Given the description of an element on the screen output the (x, y) to click on. 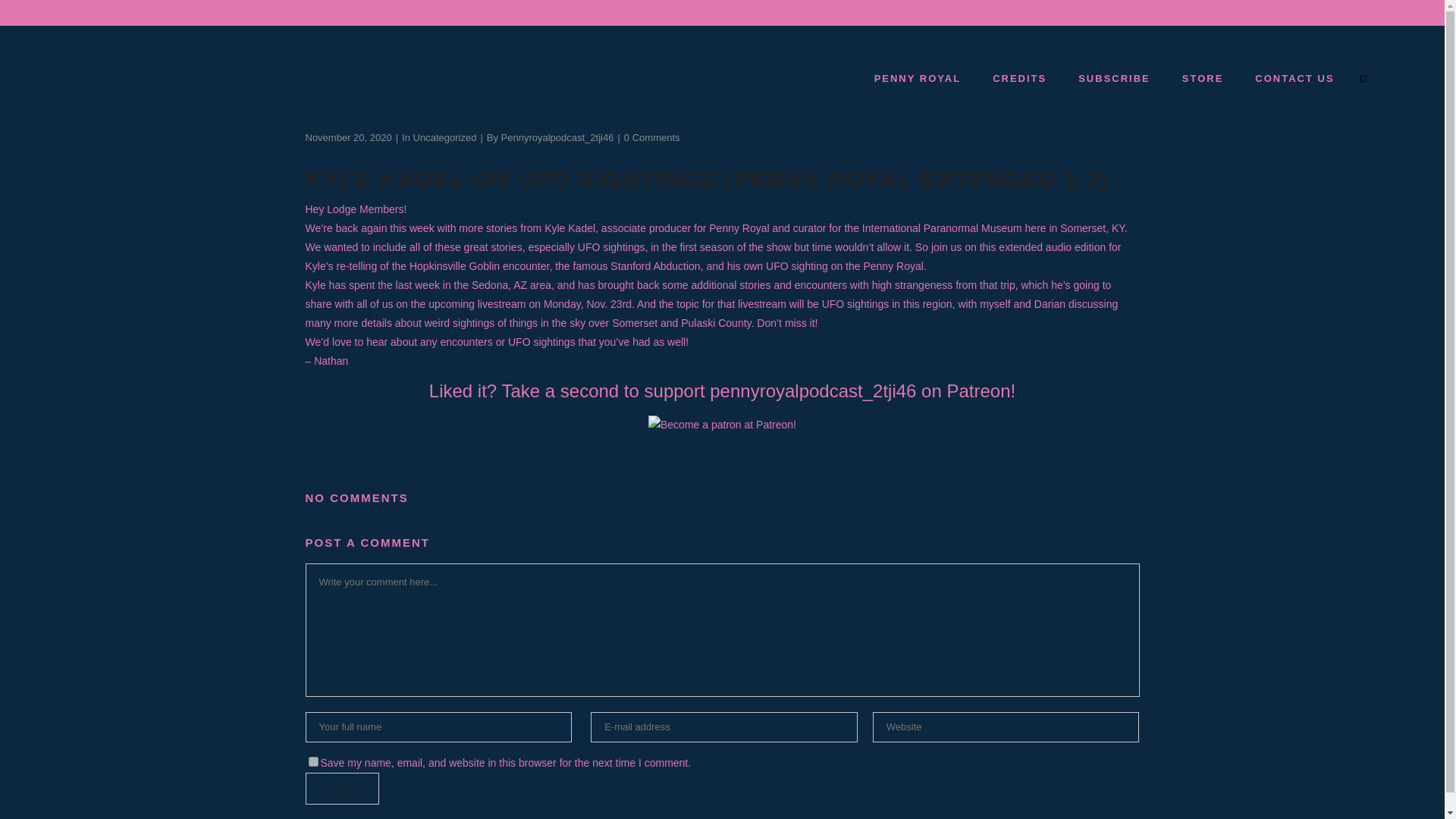
SUBSCRIBE (1113, 78)
Uncategorized (445, 137)
yes (312, 761)
CONTACT US (1294, 78)
Submit (341, 788)
PENNY ROYAL (917, 78)
0 Comments (651, 137)
Submit (341, 788)
U (998, 412)
